Given the description of an element on the screen output the (x, y) to click on. 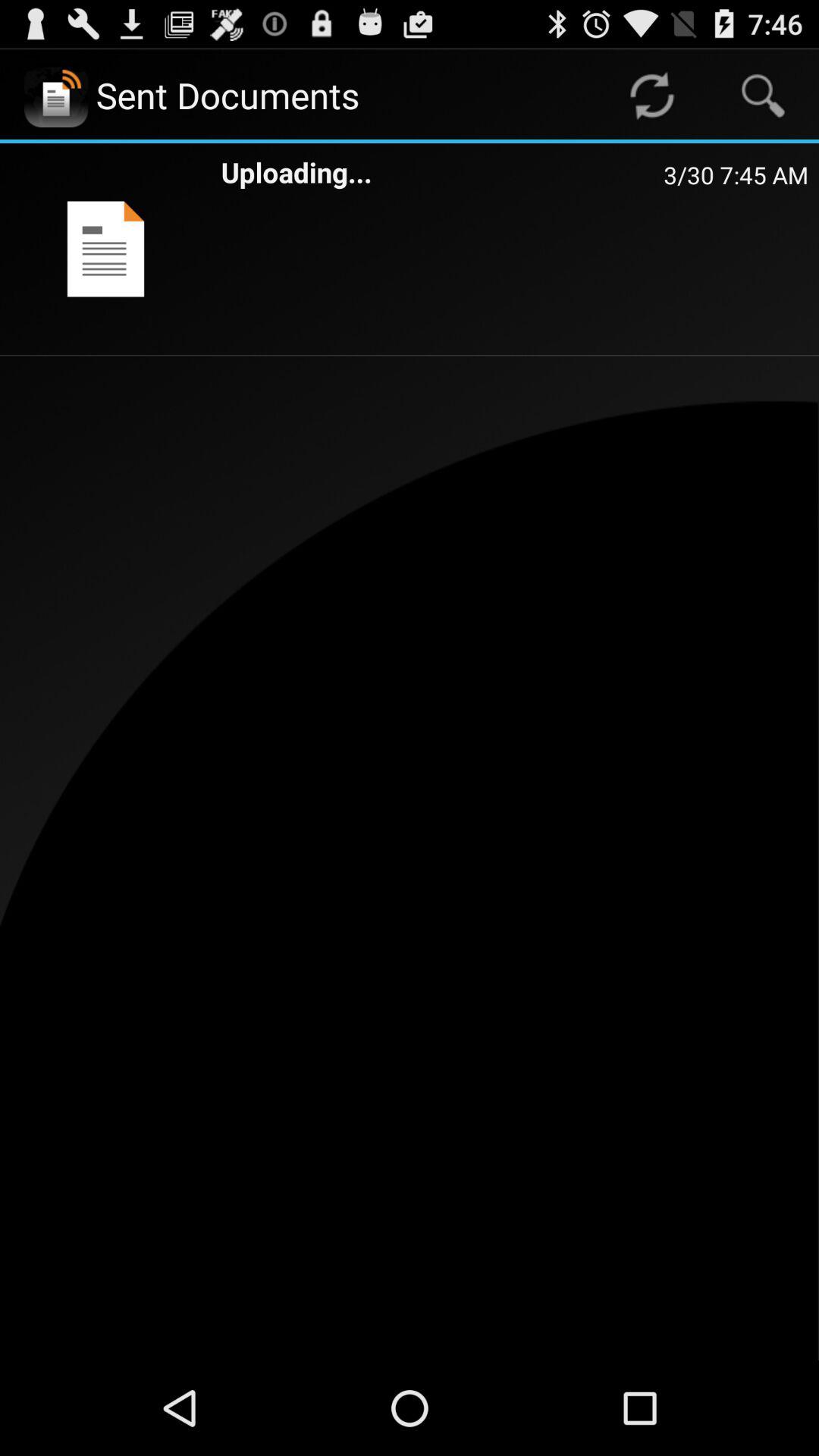
open item to the right of uploading... app (735, 174)
